Given the description of an element on the screen output the (x, y) to click on. 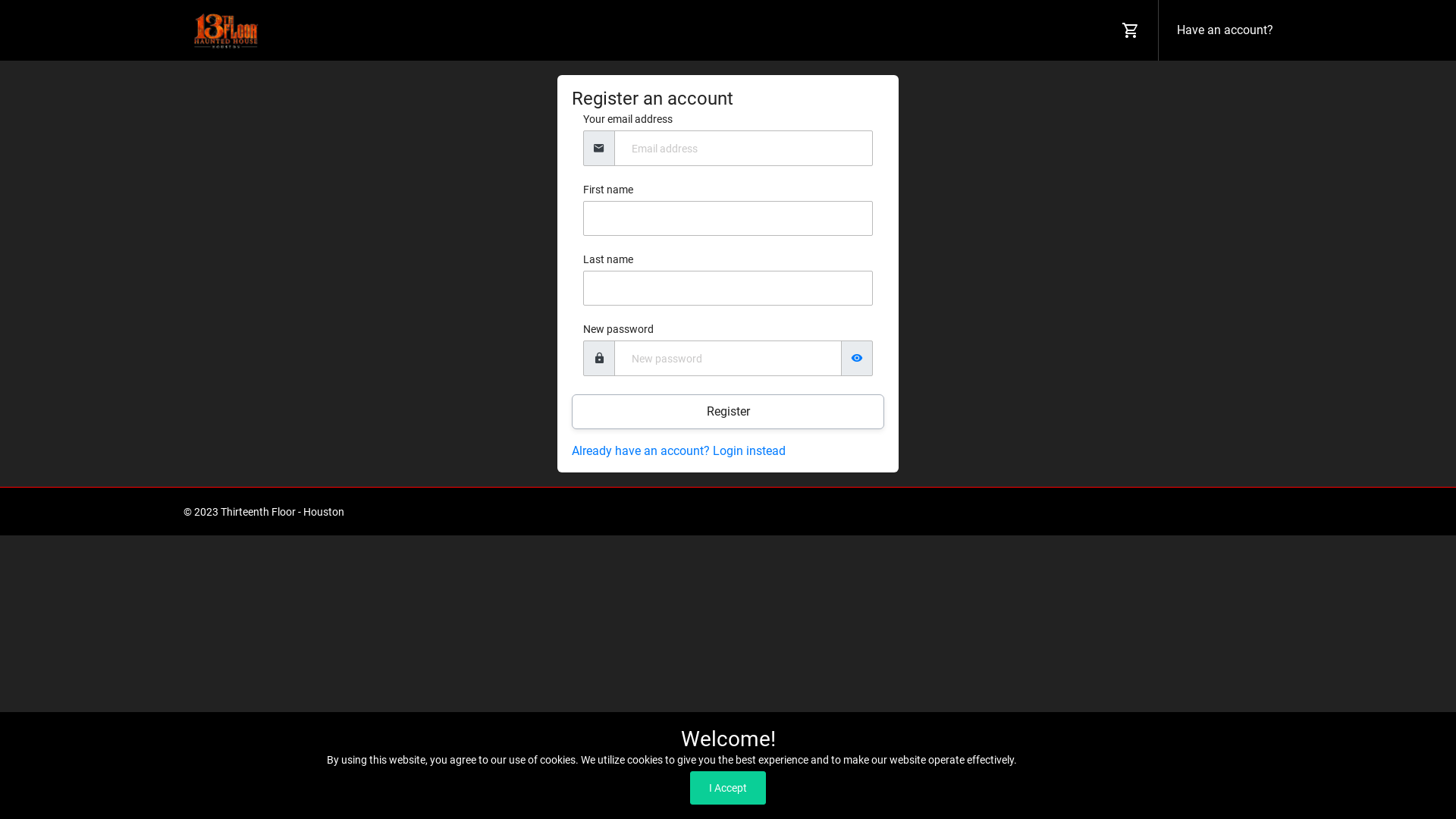
Read our Privacy Policy Element type: text (1074, 759)
Home Element type: text (1016, 511)
Terms & Conditions Element type: text (1085, 511)
Refunds Element type: text (1252, 511)
Privacy & Security Element type: text (1182, 511)
Have an account? Element type: text (1221, 30)
I Accept Element type: text (727, 787)
Already have an account? Login instead Element type: text (678, 450)
Register Element type: text (727, 411)
